Given the description of an element on the screen output the (x, y) to click on. 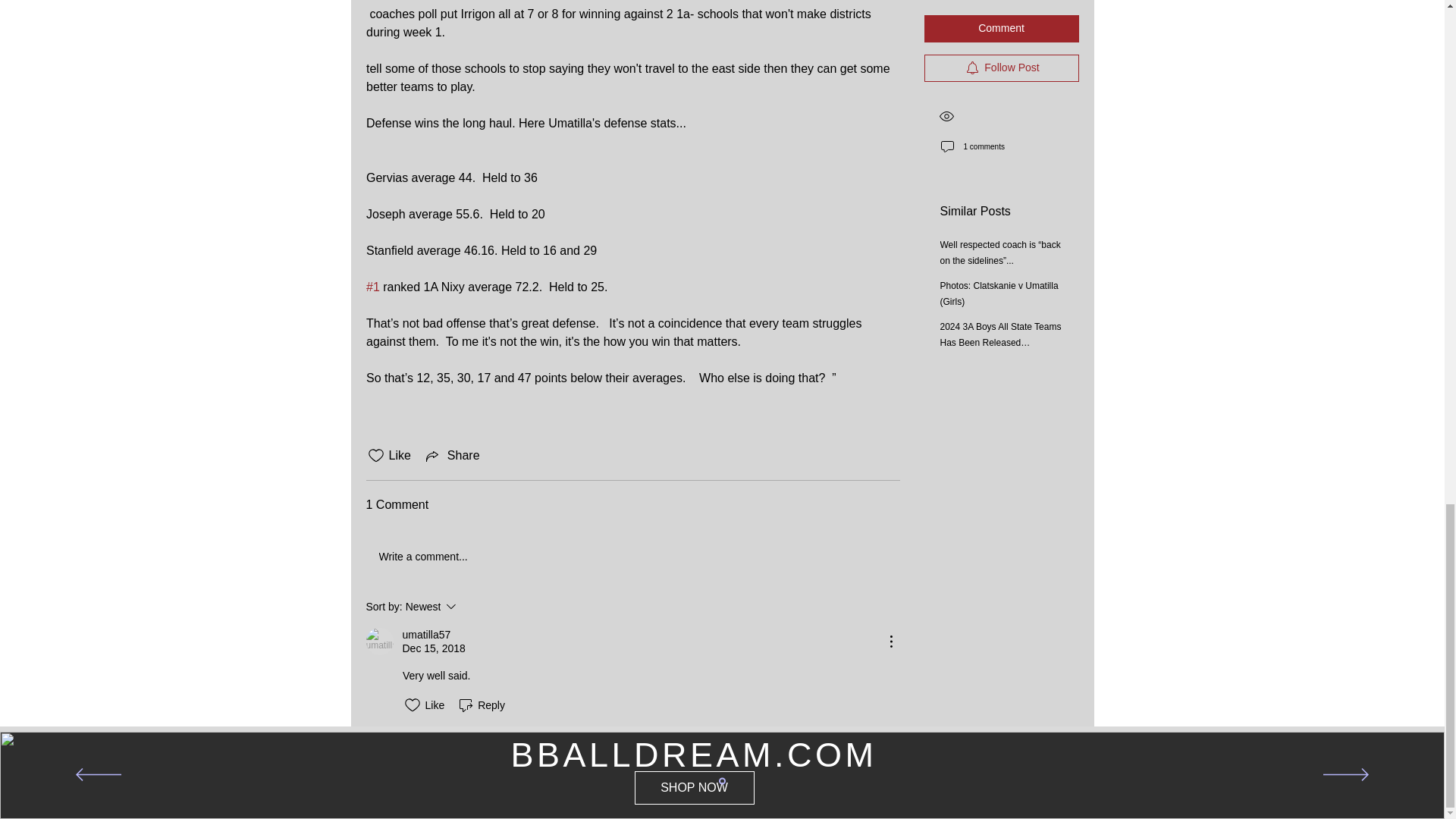
Share (451, 455)
Write a comment... (471, 606)
umatilla57 (632, 557)
